Given the description of an element on the screen output the (x, y) to click on. 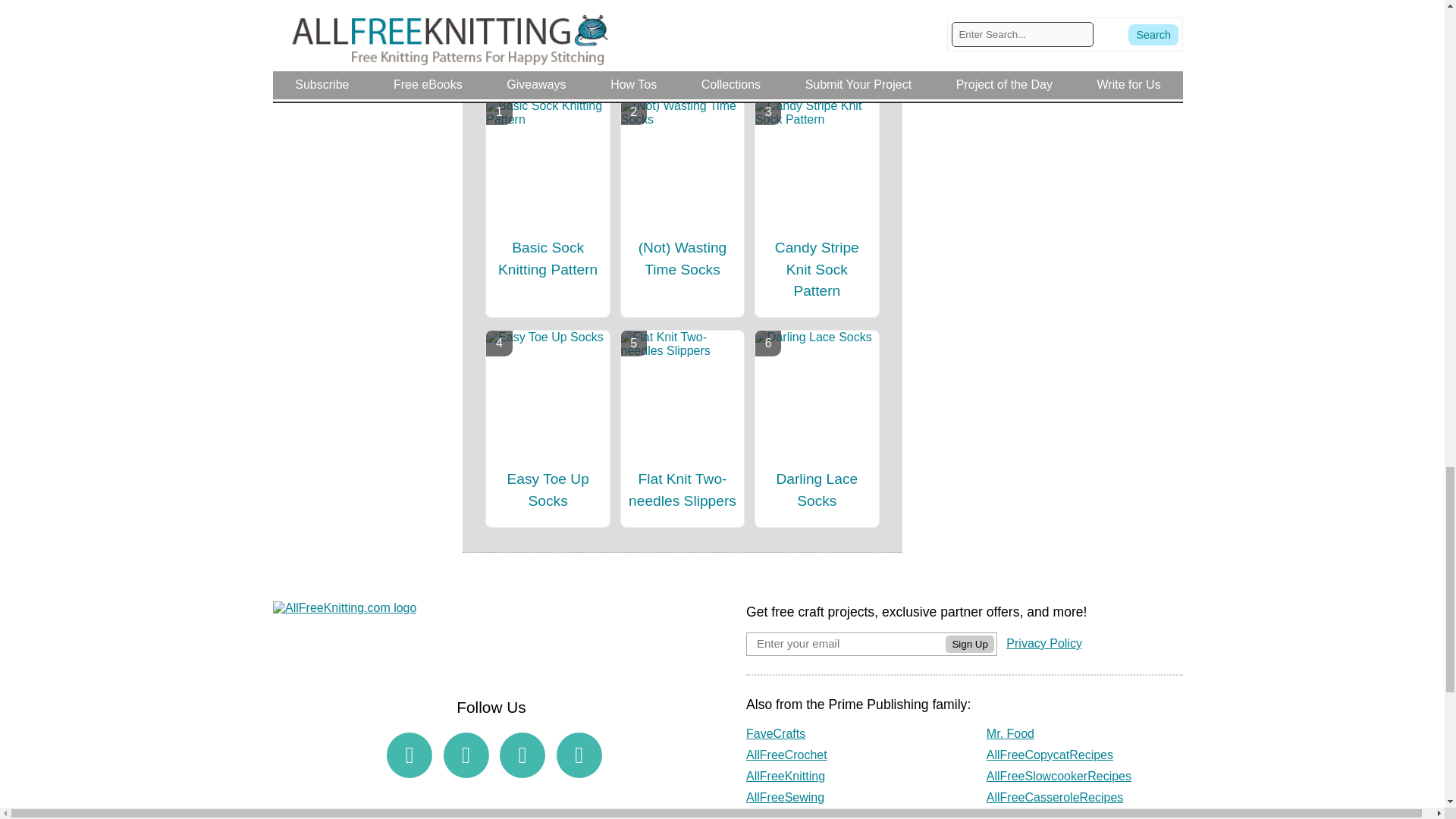
Submit (681, 0)
